Given the description of an element on the screen output the (x, y) to click on. 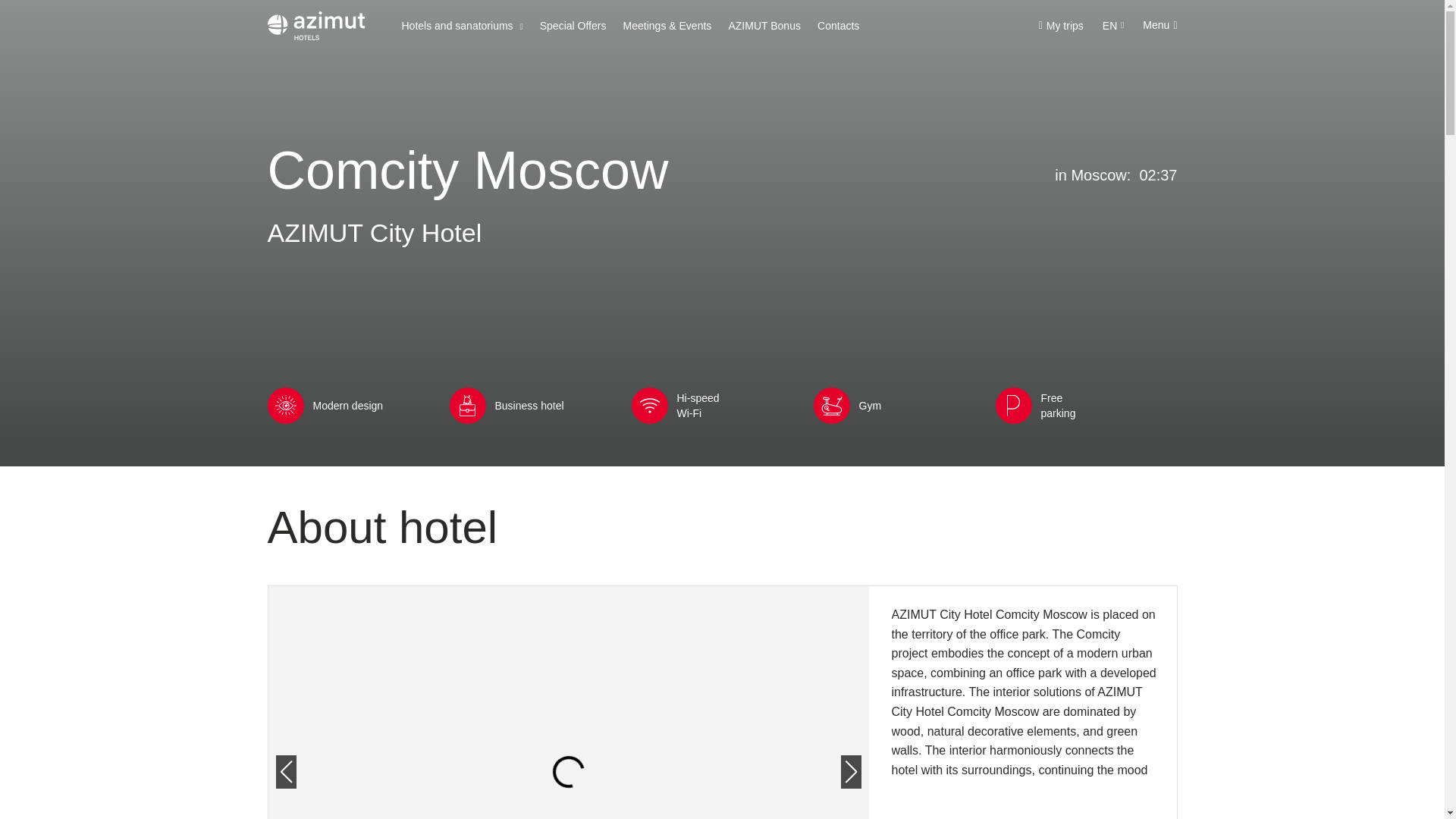
Special Offers (573, 25)
Menu (1159, 25)
EN (1113, 25)
Hotels and sanatoriums (461, 25)
My trips (1061, 25)
Contacts (837, 25)
AZIMUT Bonus (763, 25)
